Given the description of an element on the screen output the (x, y) to click on. 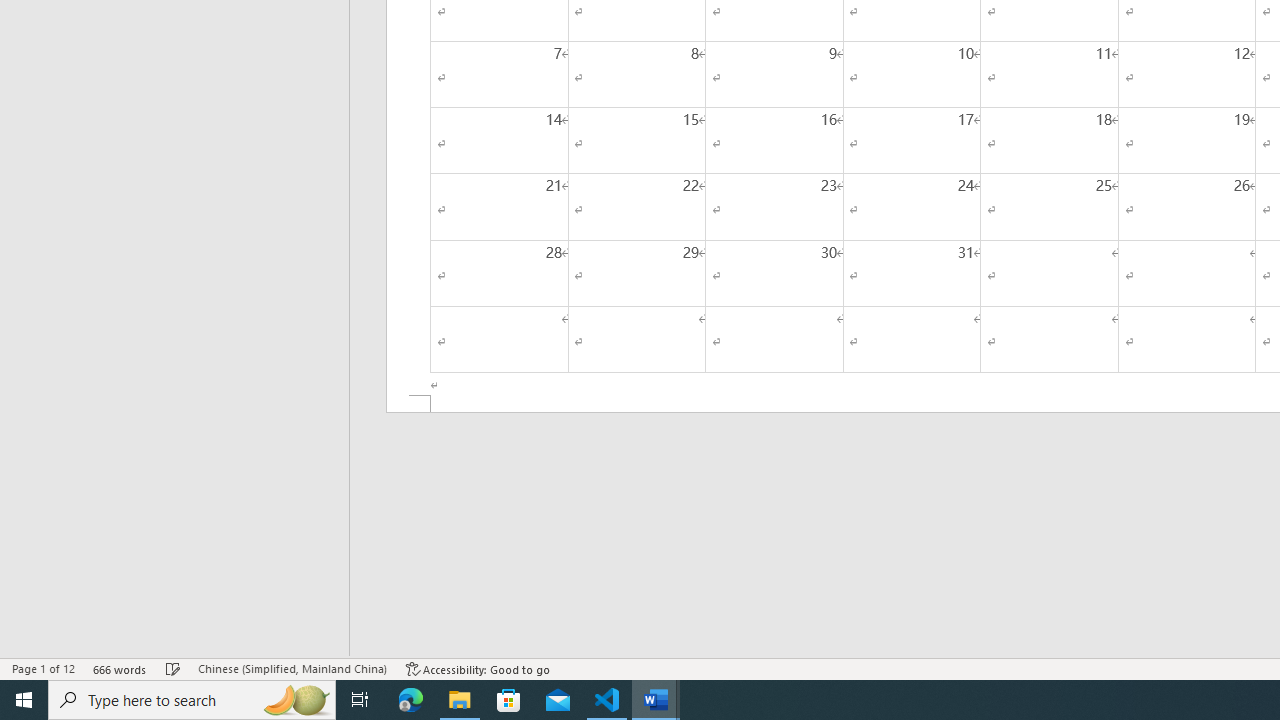
Page Number Page 1 of 12 (43, 668)
